Given the description of an element on the screen output the (x, y) to click on. 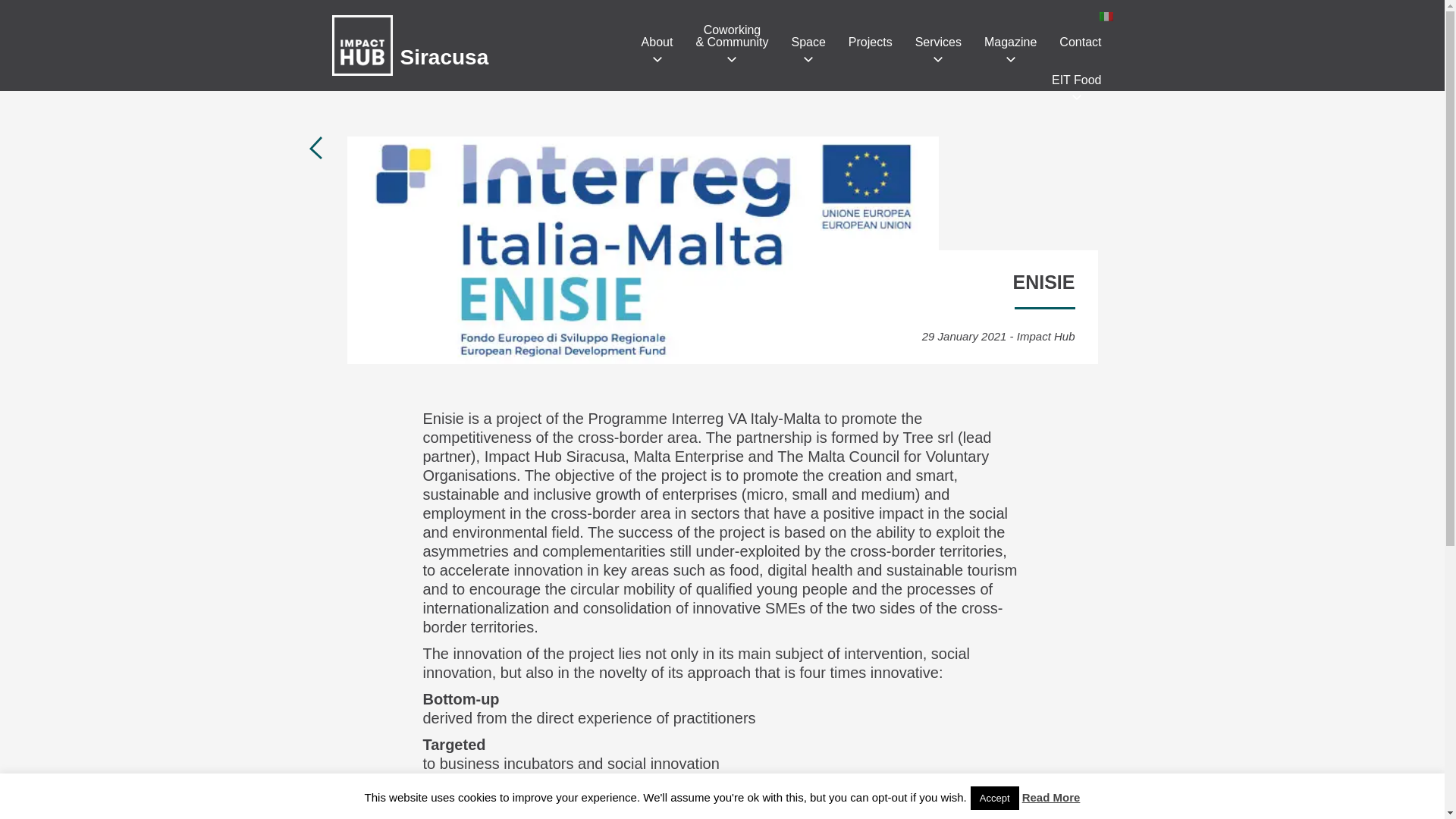
About (656, 42)
Space (807, 42)
Magazine (1010, 42)
EIT Food (1076, 80)
Services (938, 42)
Projects (870, 42)
Contact (1079, 42)
